Given the description of an element on the screen output the (x, y) to click on. 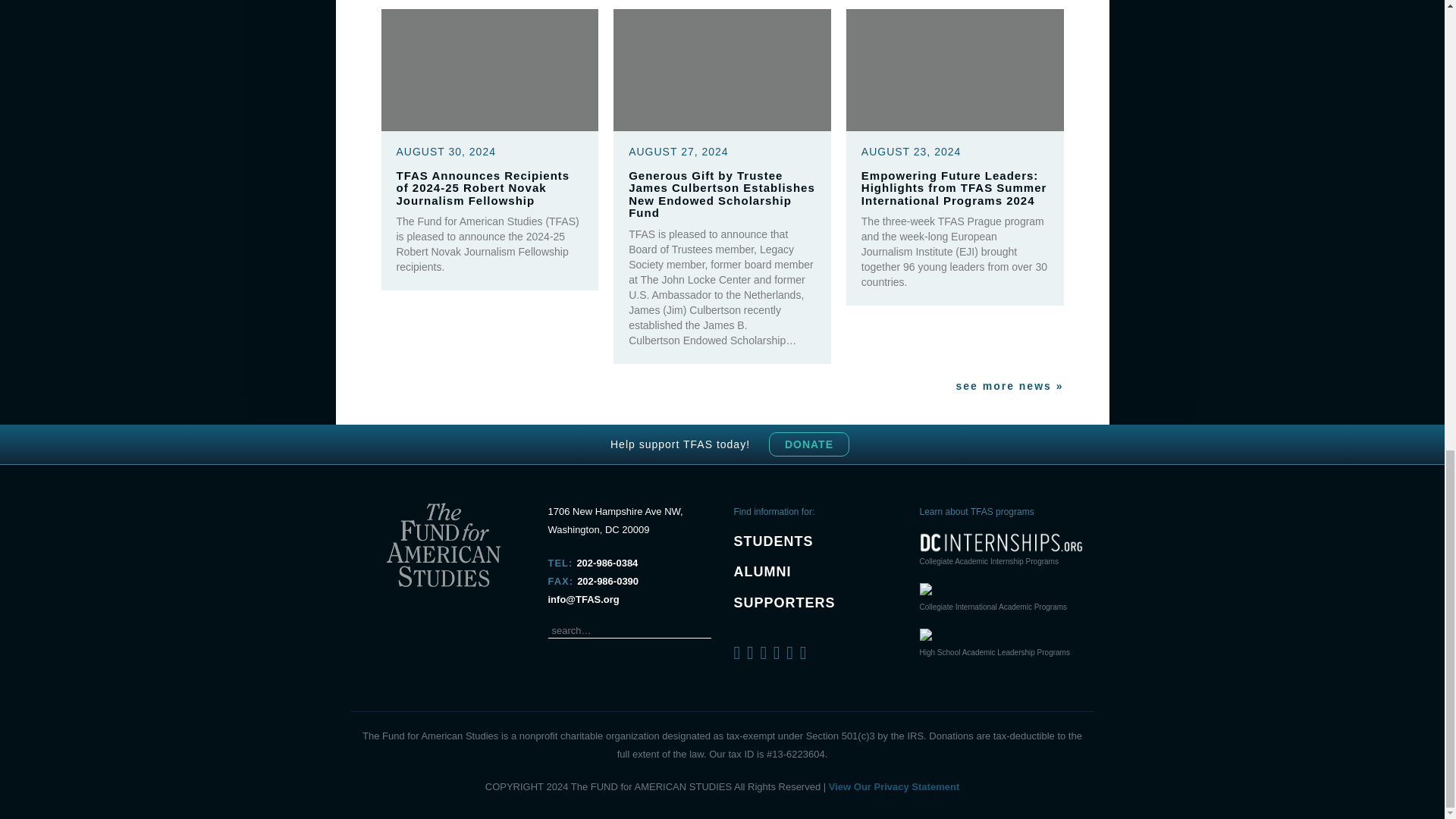
STUDENTS (773, 540)
Donate (808, 444)
Donate (808, 444)
